Given the description of an element on the screen output the (x, y) to click on. 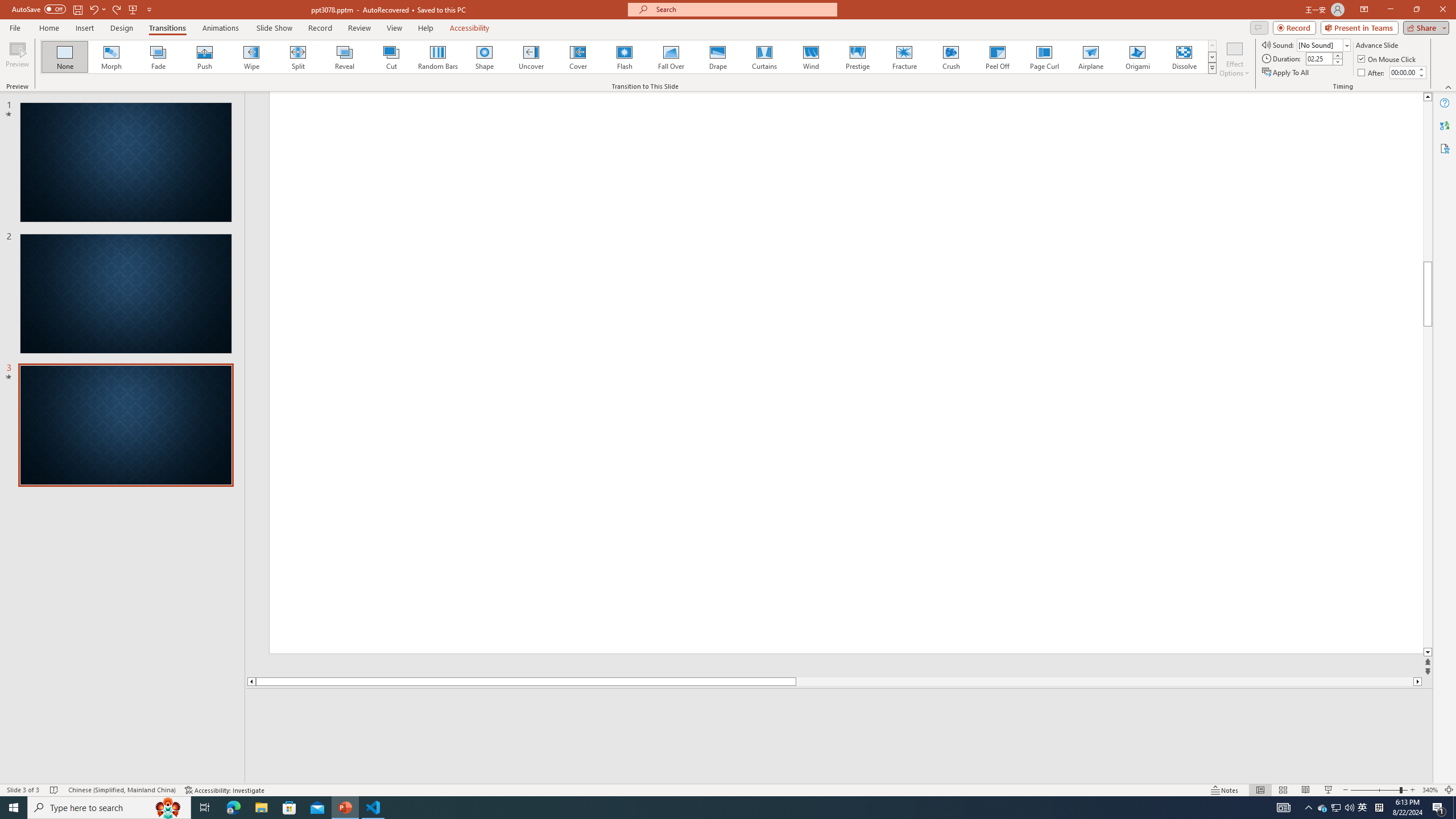
Apply To All (1286, 72)
Crush (950, 56)
Slide Notes (839, 705)
Page Curl (1043, 56)
Push (205, 56)
Duration (1319, 58)
Effect Options (1234, 58)
